Given the description of an element on the screen output the (x, y) to click on. 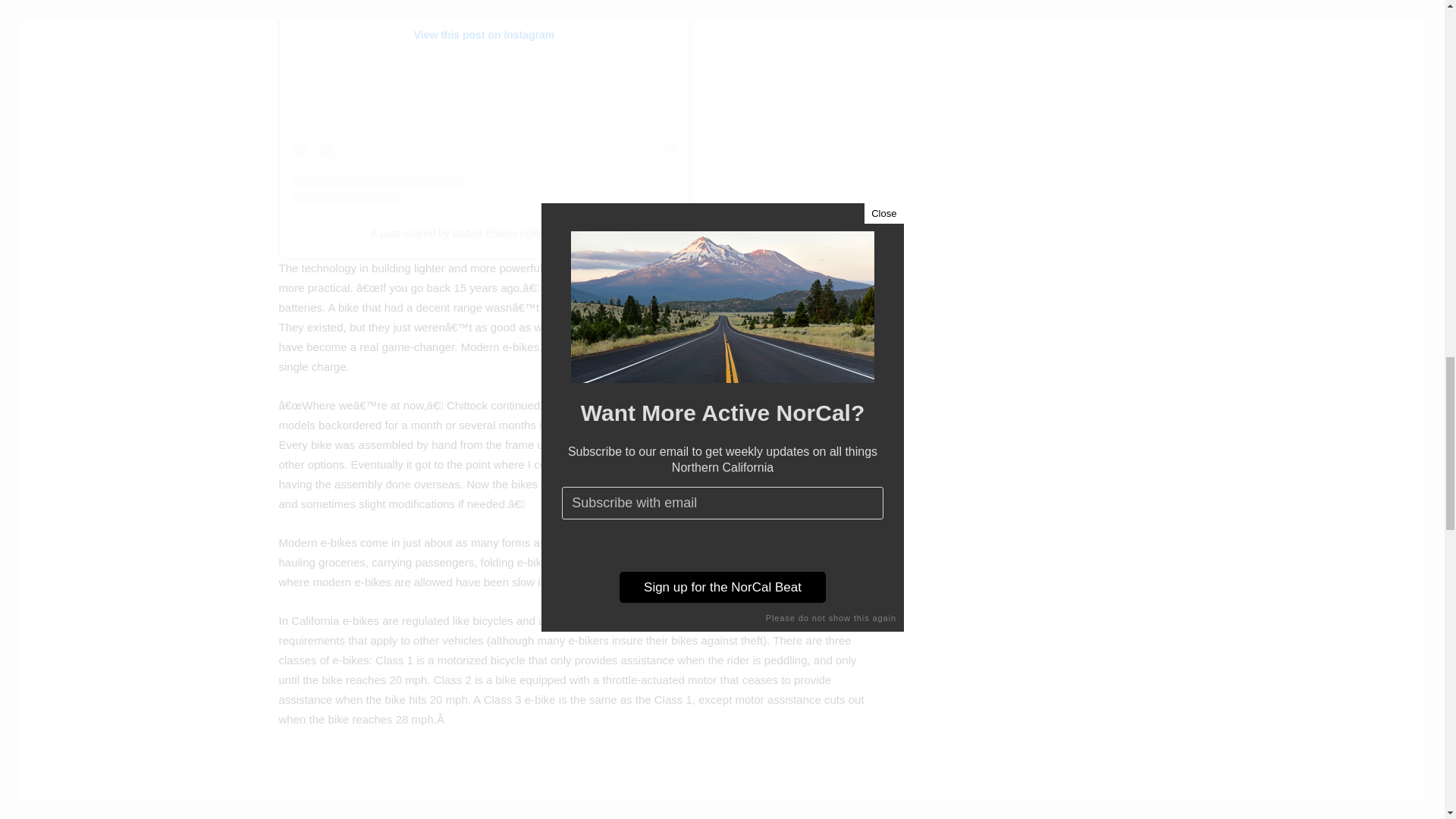
10 things to know before purchasing an eBike (547, 783)
